Given the description of an element on the screen output the (x, y) to click on. 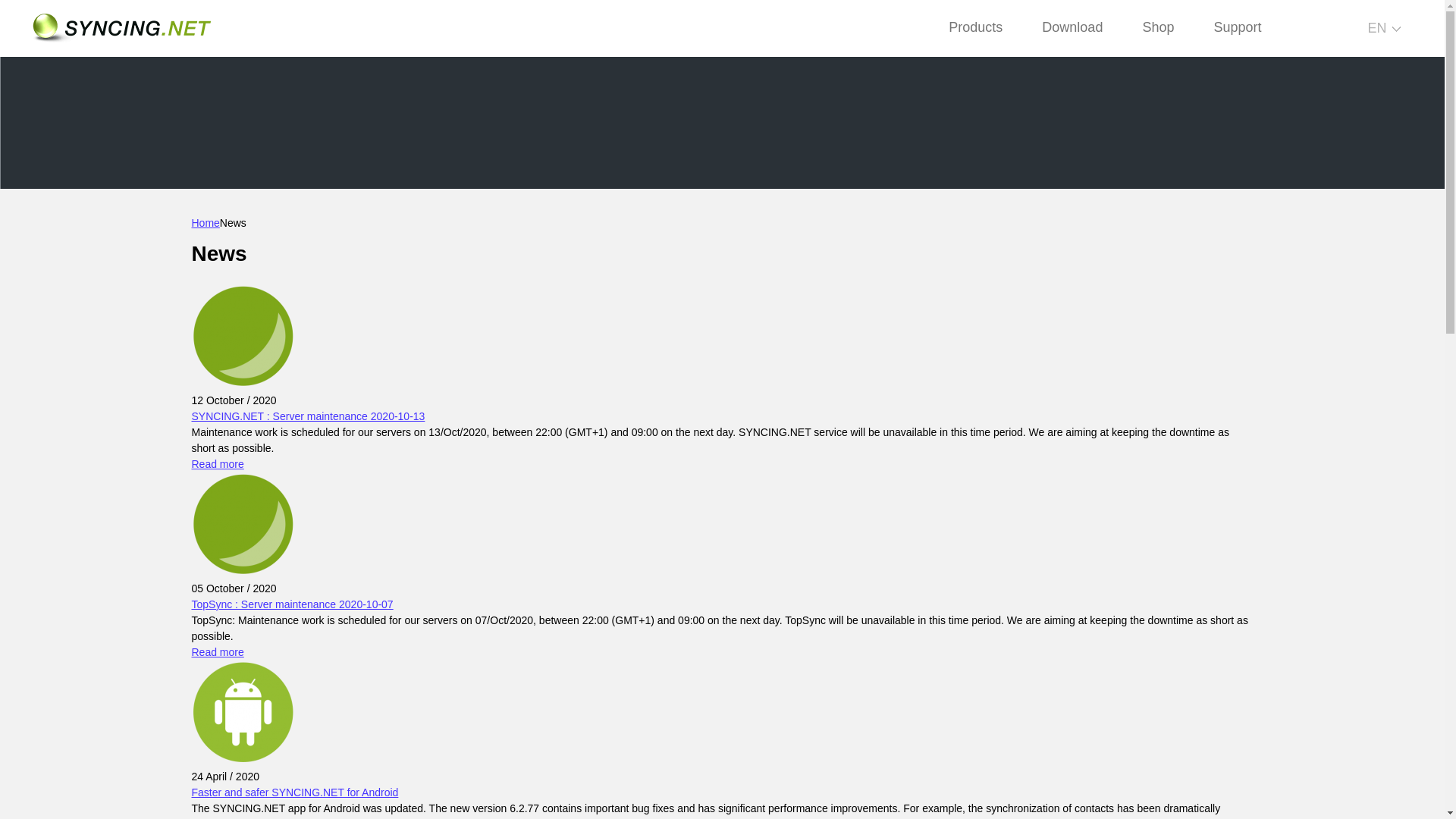
Shop (1157, 27)
TopSync : Server maintenance 2020-10-07 (291, 604)
Read more (216, 652)
syncing.net (120, 27)
Read more (216, 463)
Download (1072, 27)
Faster and safer SYNCING.NET for Android (293, 792)
Products (975, 27)
Home (204, 223)
Support (1236, 27)
SYNCING.NET : Server maintenance 2020-10-13 (307, 416)
